Given the description of an element on the screen output the (x, y) to click on. 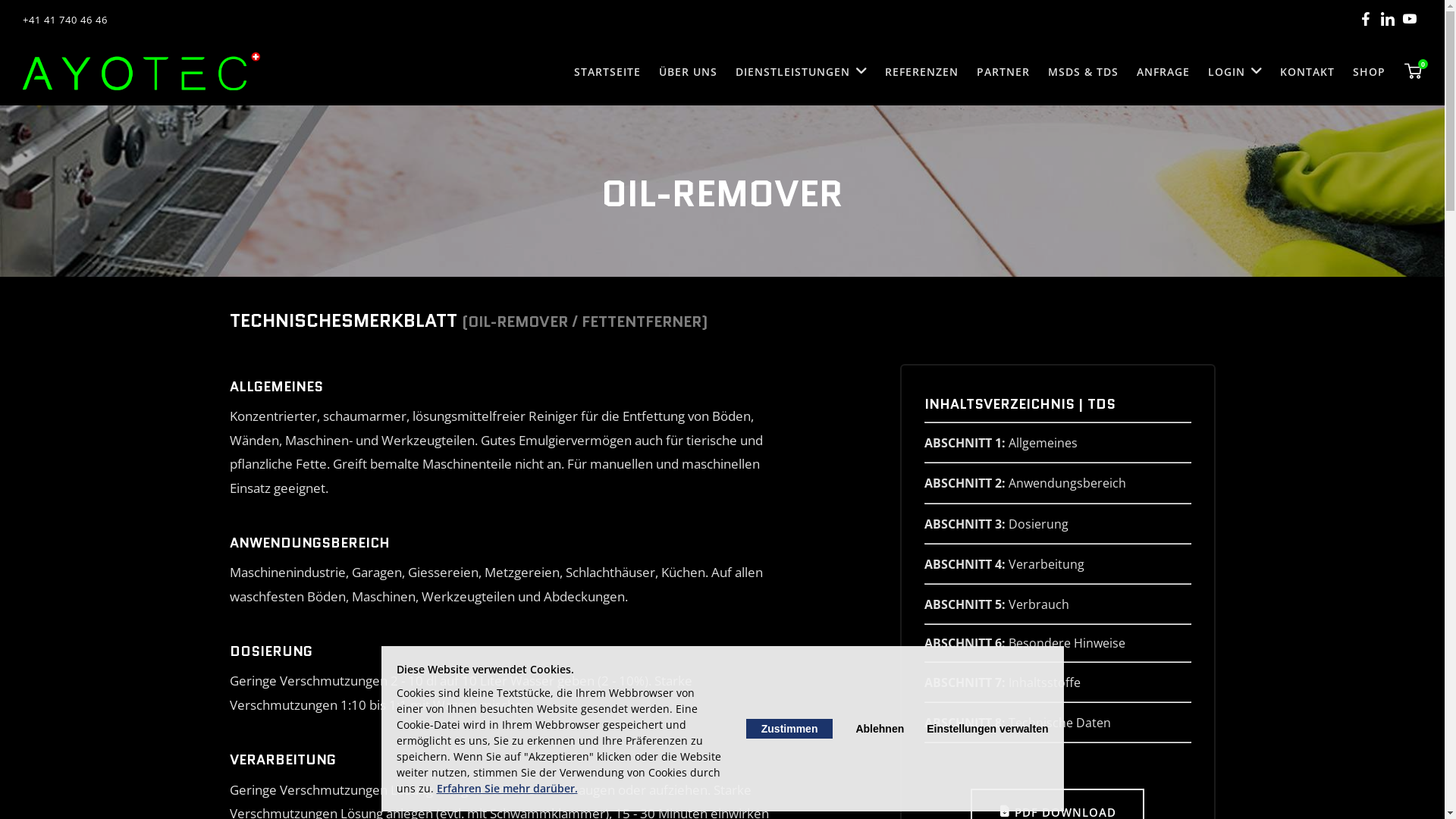
REFERENZEN Element type: text (921, 71)
STARTSEITE Element type: text (607, 71)
KONTAKT Element type: text (1307, 71)
SHOP Element type: text (1369, 71)
MSDS & TDS Element type: text (1083, 71)
Ablehnen Element type: text (879, 728)
Zustimmen Element type: text (789, 728)
ANFRAGE Element type: text (1163, 71)
Einstellungen verwalten Element type: text (987, 728)
WARENKORB:
0 Element type: text (1412, 71)
PARTNER Element type: text (1003, 71)
+41 41 740 46 46 Element type: text (64, 19)
